Given the description of an element on the screen output the (x, y) to click on. 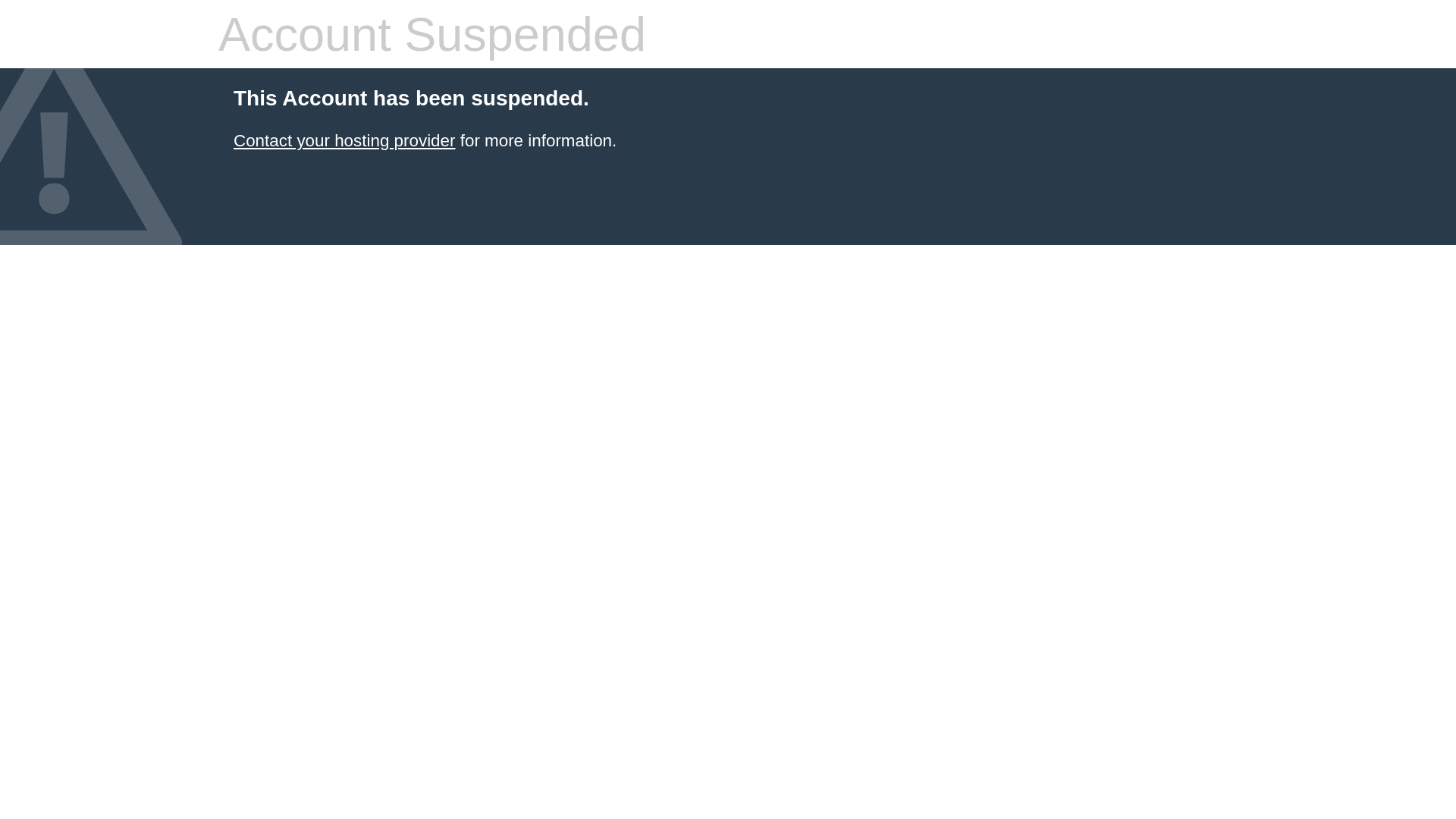
Contact your hosting provider Element type: text (344, 140)
